Given the description of an element on the screen output the (x, y) to click on. 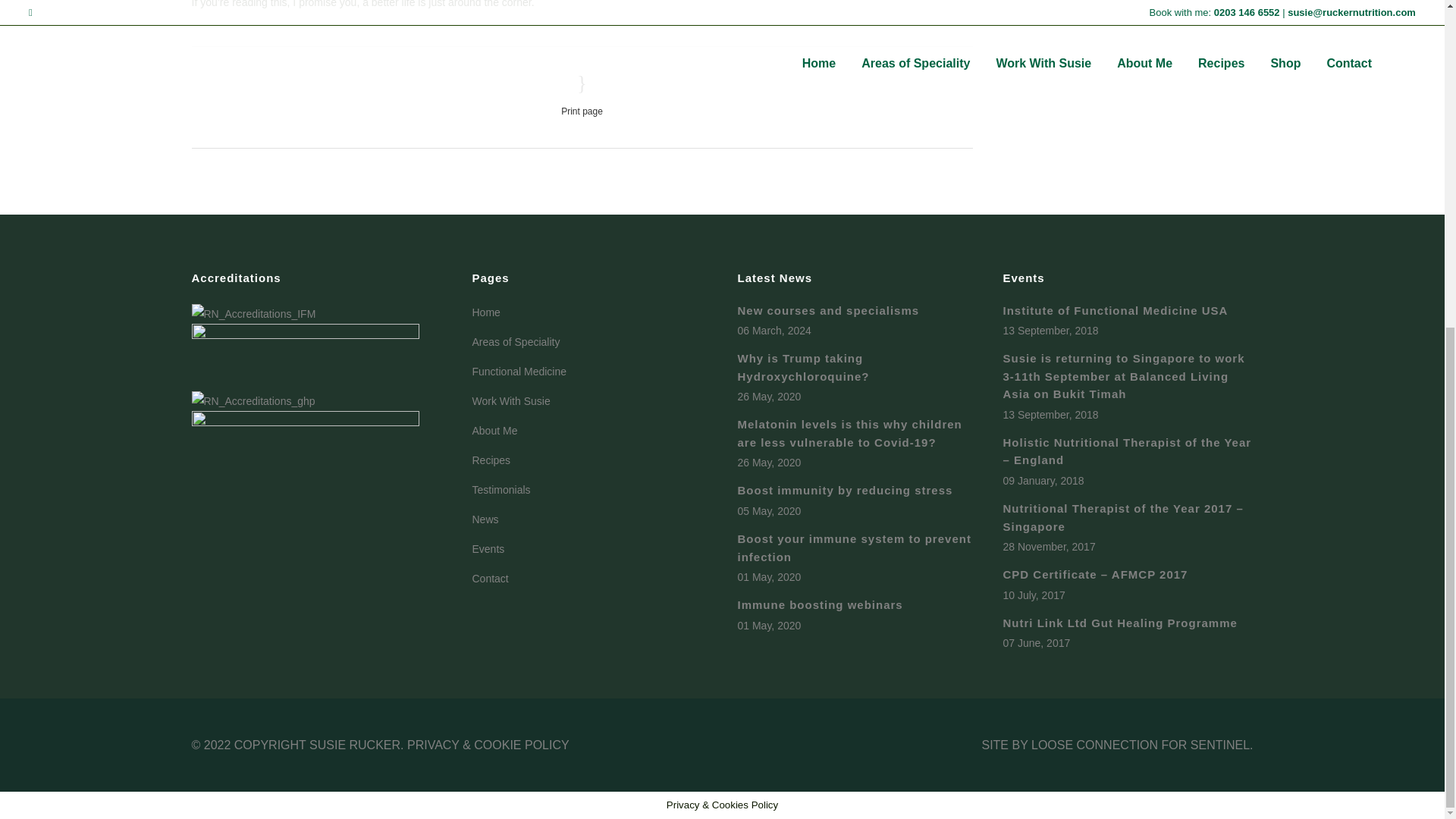
Why is Trump taking Hydroxychloroquine? (802, 367)
News (592, 519)
Testimonials (592, 489)
Events (592, 548)
New courses and specialisms (827, 309)
Recipes (592, 460)
Print page (581, 95)
Functional Medicine (592, 371)
Home (592, 312)
